Given the description of an element on the screen output the (x, y) to click on. 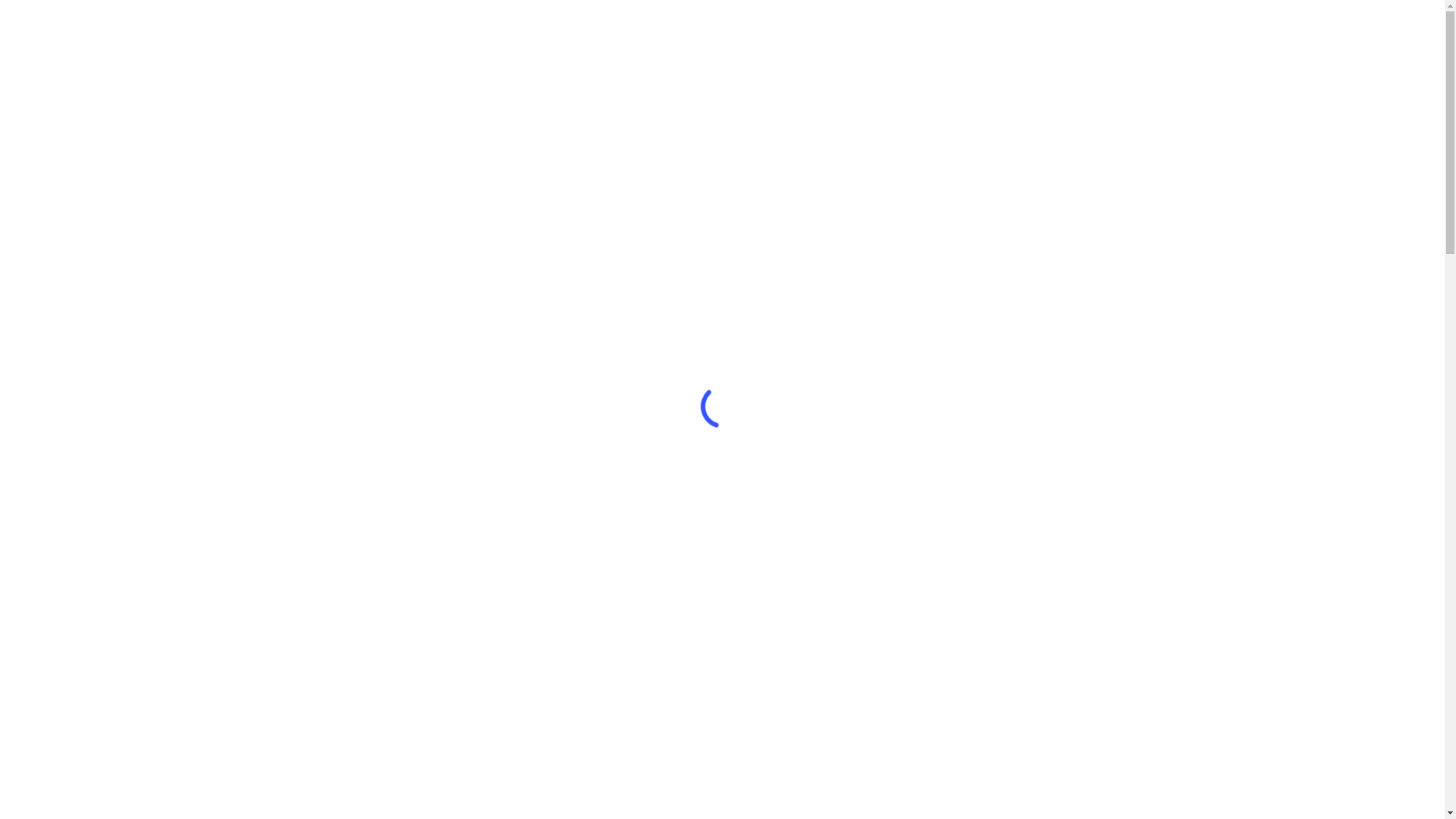
Services Element type: text (651, 339)
Services Element type: text (651, 605)
About Element type: text (843, 90)
Rehabilitation and OT Assessment Element type: text (757, 627)
Adult Services Element type: text (682, 361)
Home Element type: text (760, 90)
search Element type: text (1185, 91)
Get Directions Element type: text (1163, 15)
Services Element type: text (933, 90)
Phone: (02) 5317 8282 Element type: text (1070, 15)
Contact Element type: text (1107, 90)
Team Element type: text (1020, 90)
